Given the description of an element on the screen output the (x, y) to click on. 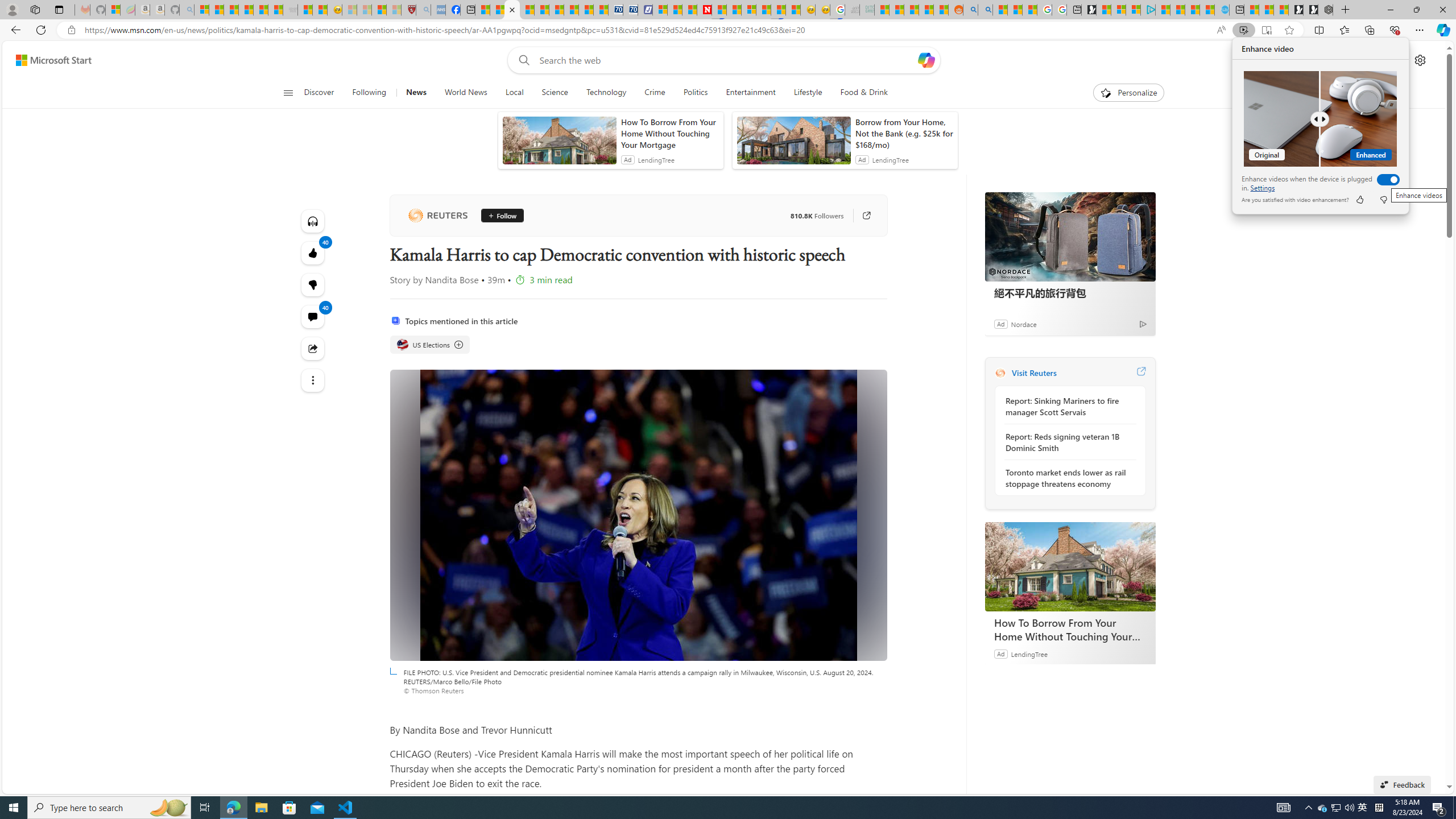
Close tab (511, 9)
Q2790: 100% (1349, 807)
Copilot (Ctrl+Shift+.) (1442, 29)
Ad (999, 653)
World News (465, 92)
User Promoted Notification Area (1336, 807)
Recipes - MSN - Sleeping (349, 9)
Open navigation menu (287, 92)
Close (1442, 9)
Refresh (40, 29)
Play Free Online Games | Games from Microsoft Start (1310, 9)
Go to publisher's site (866, 215)
list of asthma inhalers uk - Search - Sleeping (422, 9)
